Given the description of an element on the screen output the (x, y) to click on. 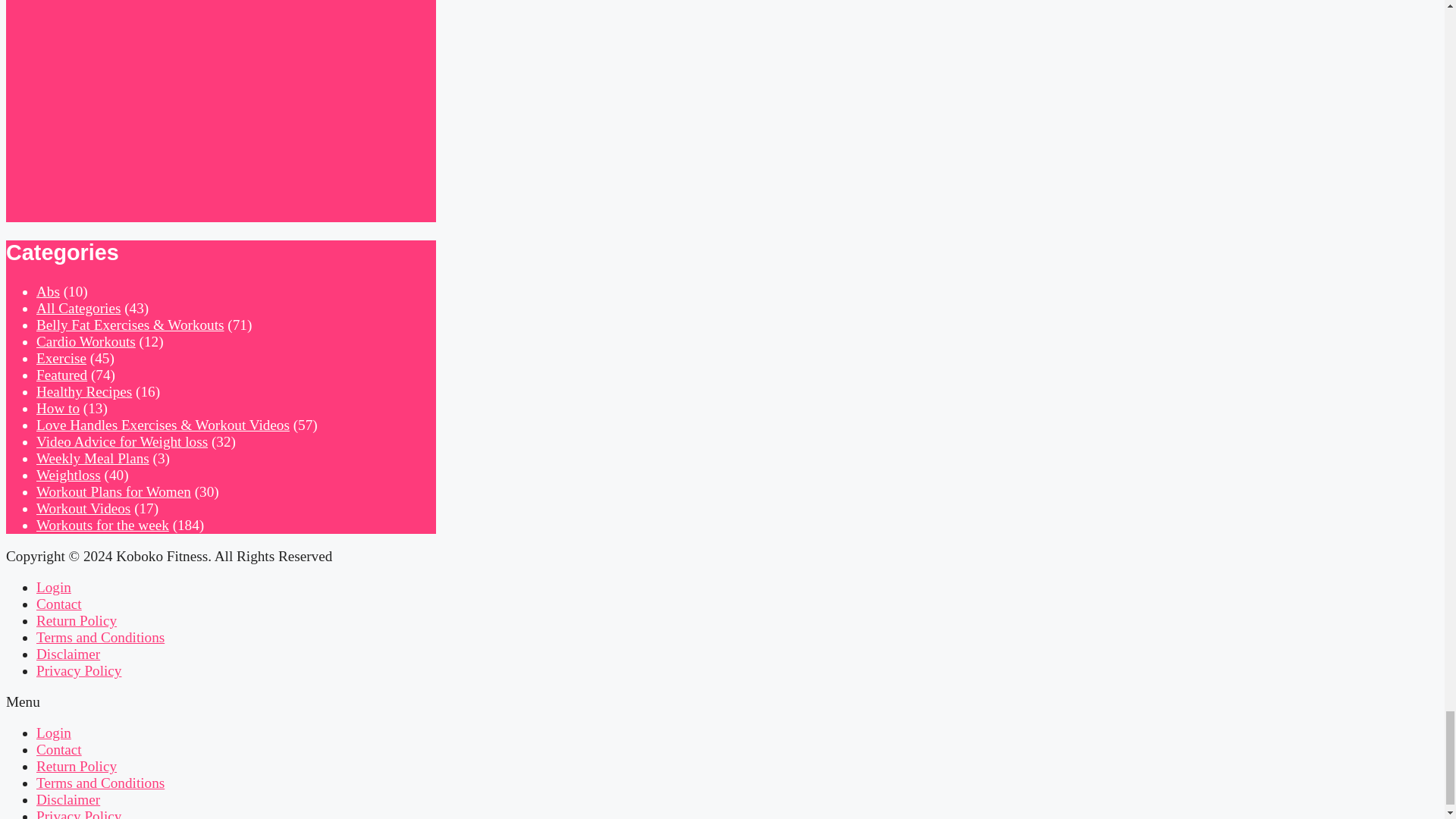
Video Advice for Weight loss (122, 441)
Weekly Meal Plans (92, 458)
Abs (47, 291)
Weightloss (68, 474)
Exercise (60, 358)
Workout Plans for Women (113, 491)
Featured (61, 374)
Cardio Workouts (85, 341)
Workout Videos (83, 508)
How to (58, 408)
